Given the description of an element on the screen output the (x, y) to click on. 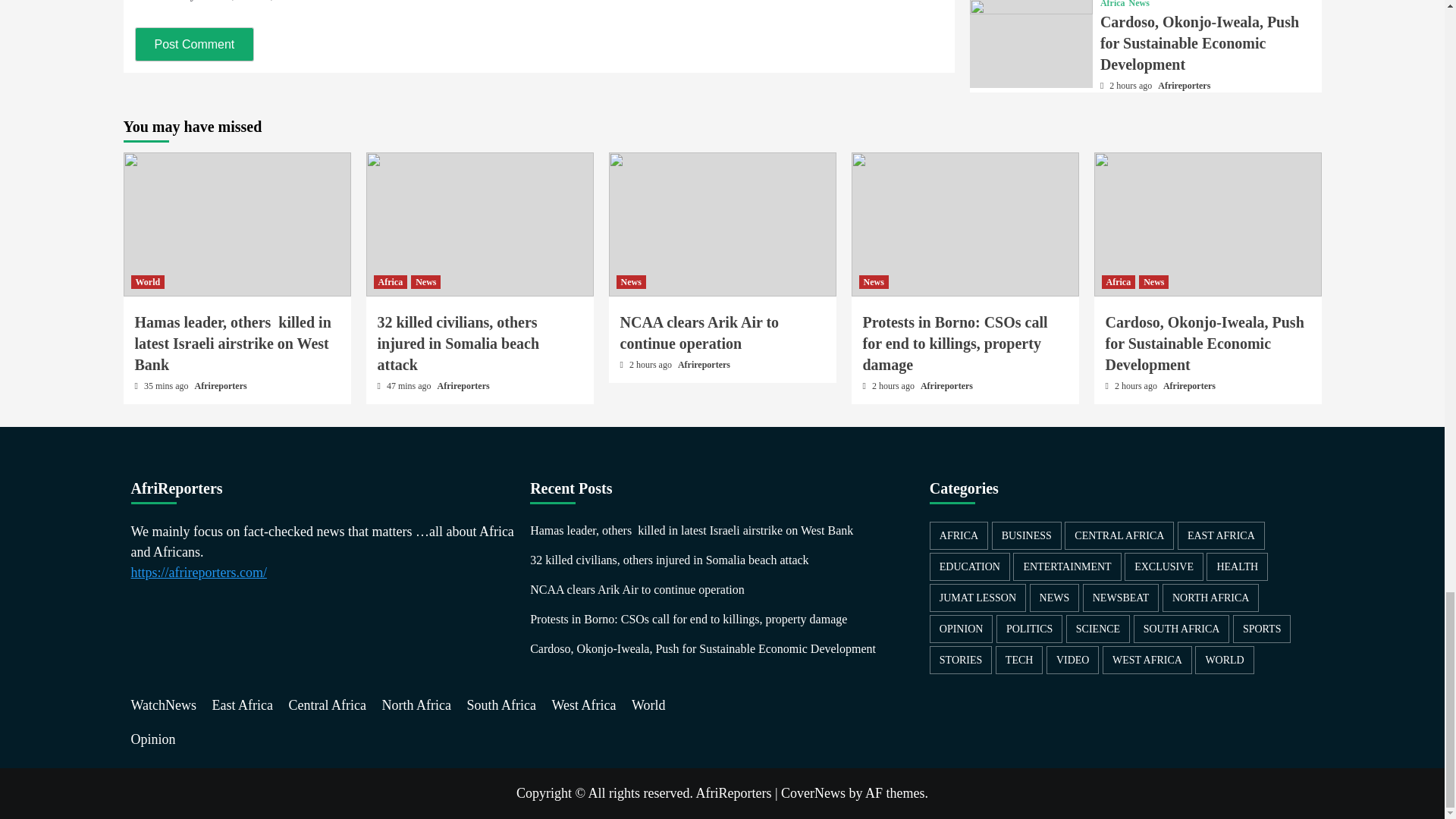
Post Comment (194, 44)
